Given the description of an element on the screen output the (x, y) to click on. 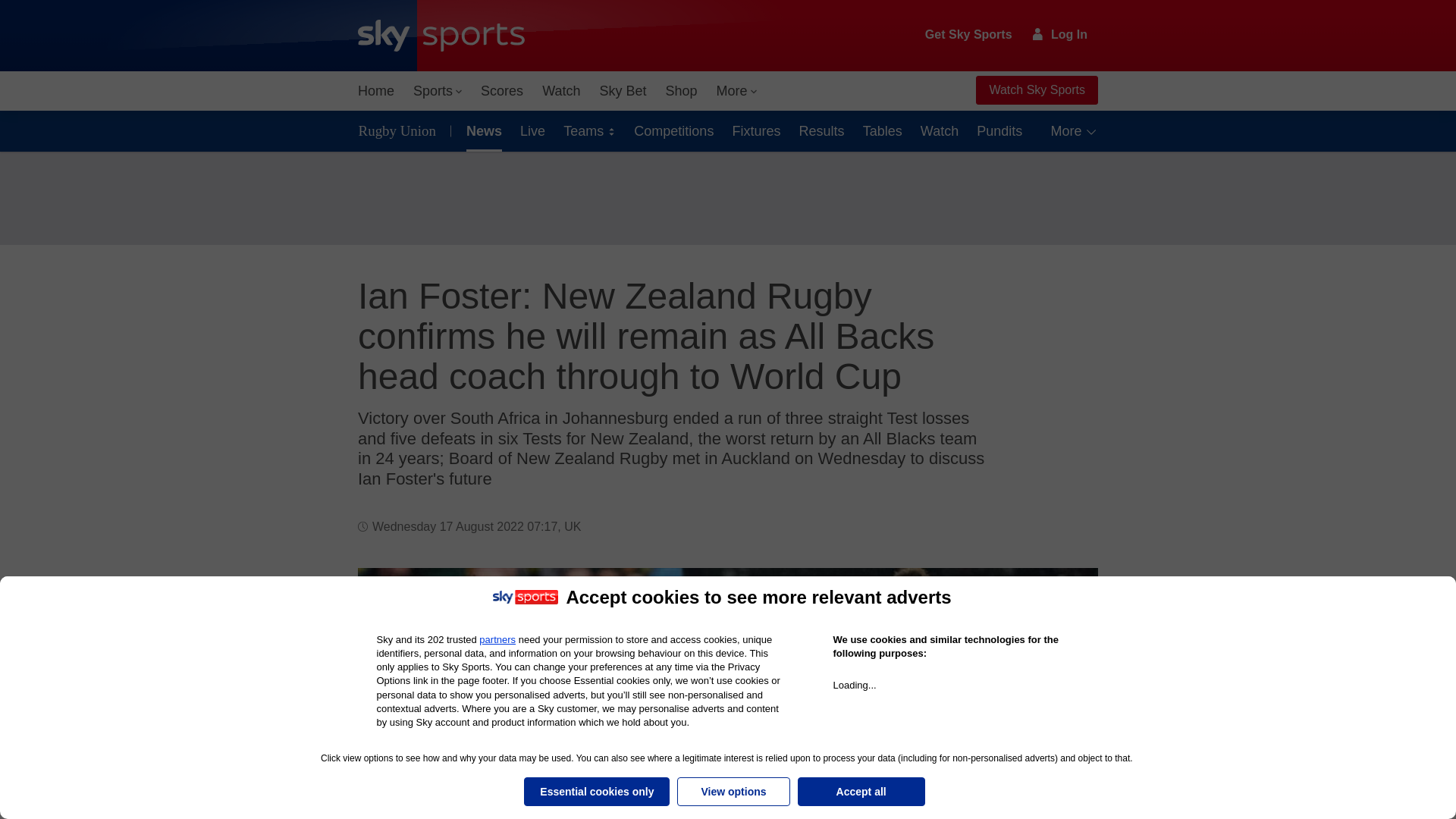
Sports (437, 91)
Home (375, 91)
Sky Bet (622, 91)
Get Sky Sports (968, 34)
Rugby Union (400, 130)
Shop (681, 91)
More (736, 91)
Watch Sky Sports (1036, 90)
Scores (502, 91)
Watch (561, 91)
News (481, 130)
Log In (1060, 33)
